Given the description of an element on the screen output the (x, y) to click on. 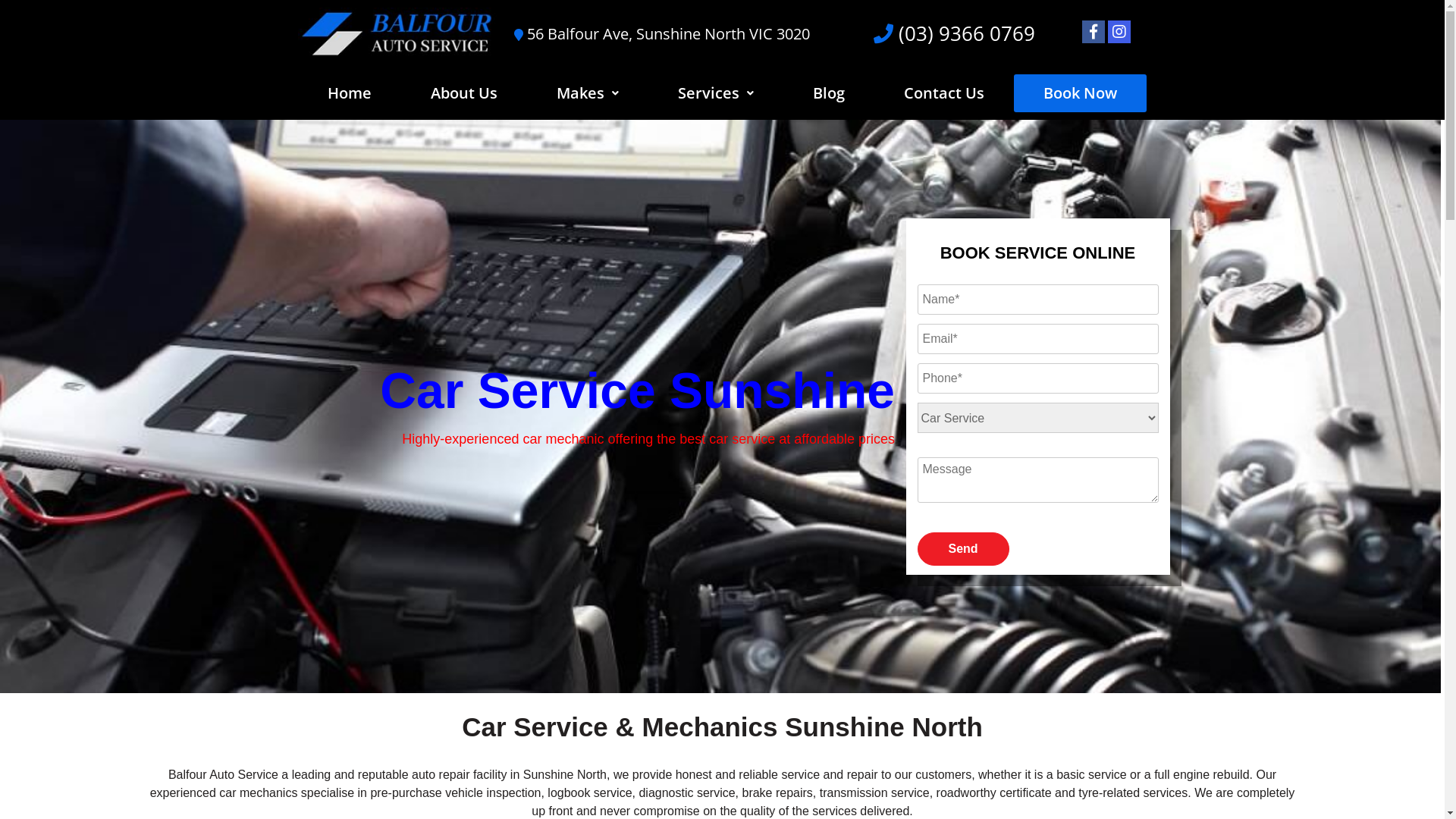
Facebook Element type: hover (1093, 31)
Blog Element type: text (828, 93)
Mechanic-Sunshine-3 Element type: hover (720, 406)
Home Element type: text (348, 93)
Send Element type: text (963, 548)
(03) 9366 0769 Element type: text (964, 33)
intagram Element type: hover (1118, 31)
Book Now Element type: text (1079, 93)
Makes Element type: text (587, 93)
Contact Us Element type: text (943, 93)
About Us Element type: text (464, 93)
Services Element type: text (715, 93)
intagram Element type: hover (1119, 31)
Facebook Element type: hover (1093, 31)
